Given the description of an element on the screen output the (x, y) to click on. 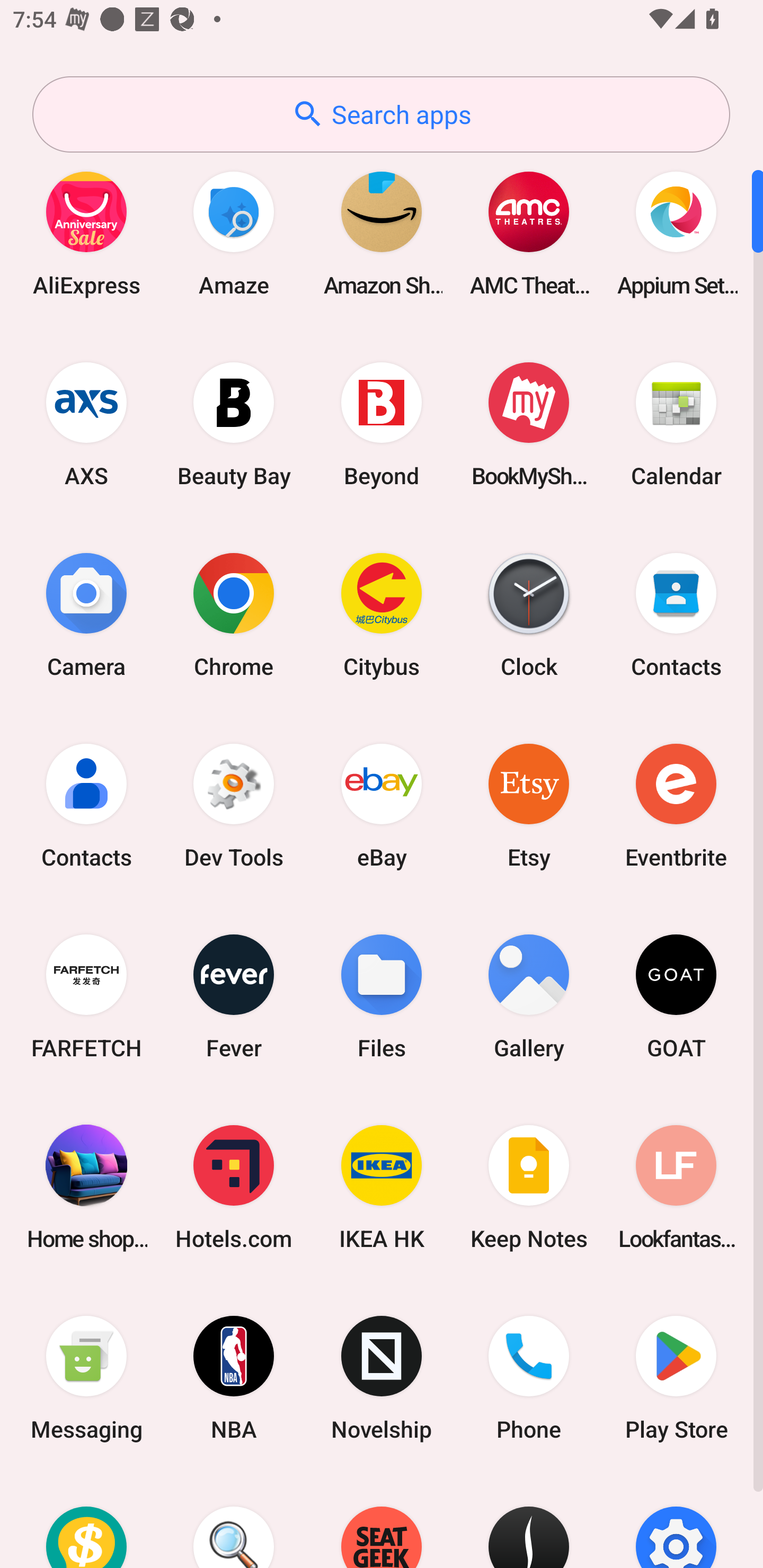
  Search apps (381, 114)
AliExpress (86, 233)
Amaze (233, 233)
Amazon Shopping (381, 233)
AMC Theatres (528, 233)
Appium Settings (676, 233)
AXS (86, 424)
Beauty Bay (233, 424)
Beyond (381, 424)
BookMyShow (528, 424)
Calendar (676, 424)
Camera (86, 614)
Chrome (233, 614)
Citybus (381, 614)
Clock (528, 614)
Contacts (676, 614)
Contacts (86, 805)
Dev Tools (233, 805)
eBay (381, 805)
Etsy (528, 805)
Eventbrite (676, 805)
FARFETCH (86, 996)
Fever (233, 996)
Files (381, 996)
Gallery (528, 996)
GOAT (676, 996)
Home shopping (86, 1186)
Hotels.com (233, 1186)
IKEA HK (381, 1186)
Keep Notes (528, 1186)
Lookfantastic (676, 1186)
Messaging (86, 1377)
NBA (233, 1377)
Novelship (381, 1377)
Phone (528, 1377)
Play Store (676, 1377)
